Given the description of an element on the screen output the (x, y) to click on. 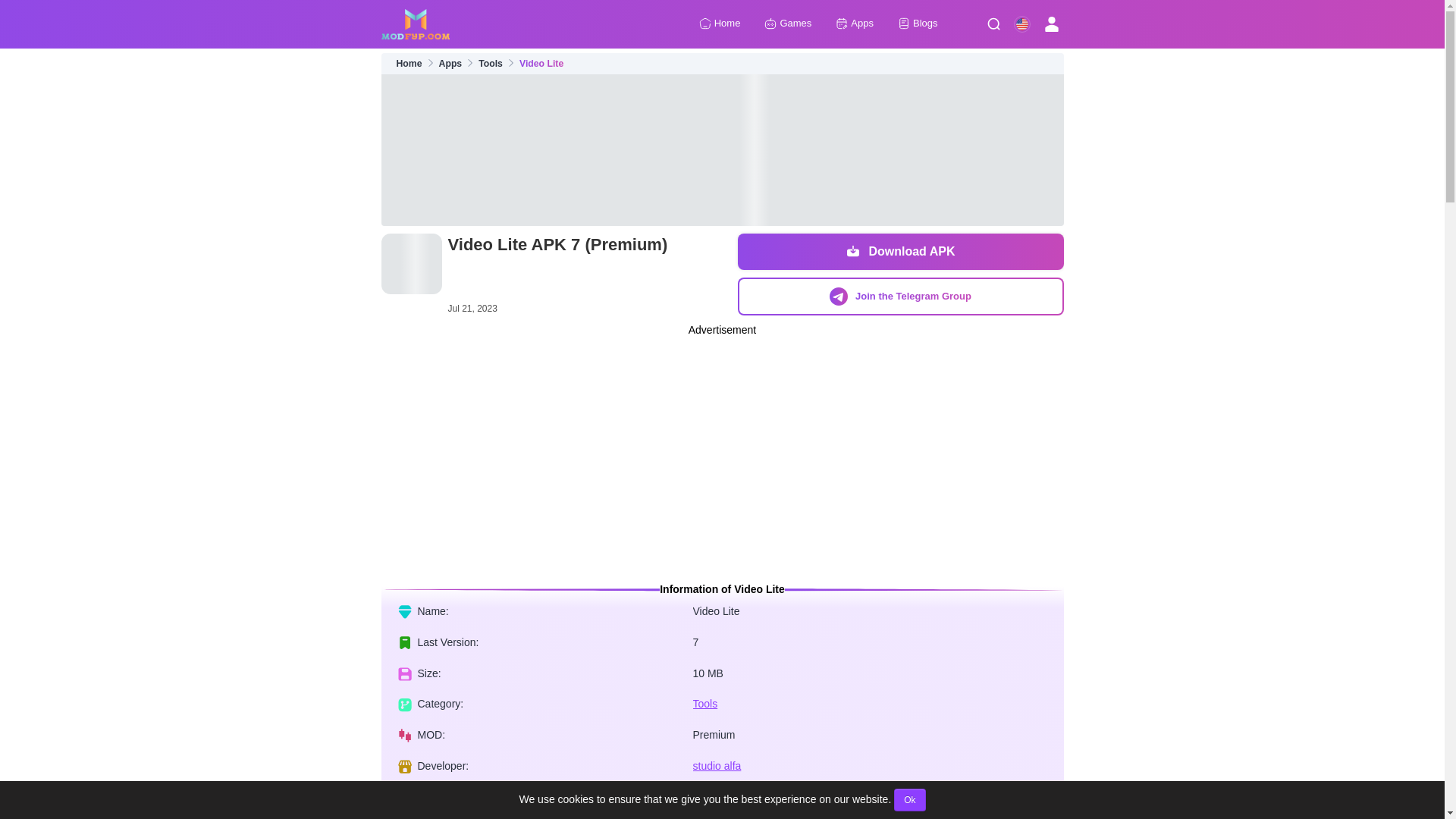
Home (409, 63)
Menu (993, 23)
Blogs (917, 23)
Blogs (917, 23)
Home (719, 23)
studio alfa (717, 766)
Apps (854, 23)
Download APK (899, 251)
Games (787, 23)
Games (787, 23)
Join the Telegram Group (899, 296)
Home (719, 23)
Apps (451, 63)
Tools (490, 63)
